Given the description of an element on the screen output the (x, y) to click on. 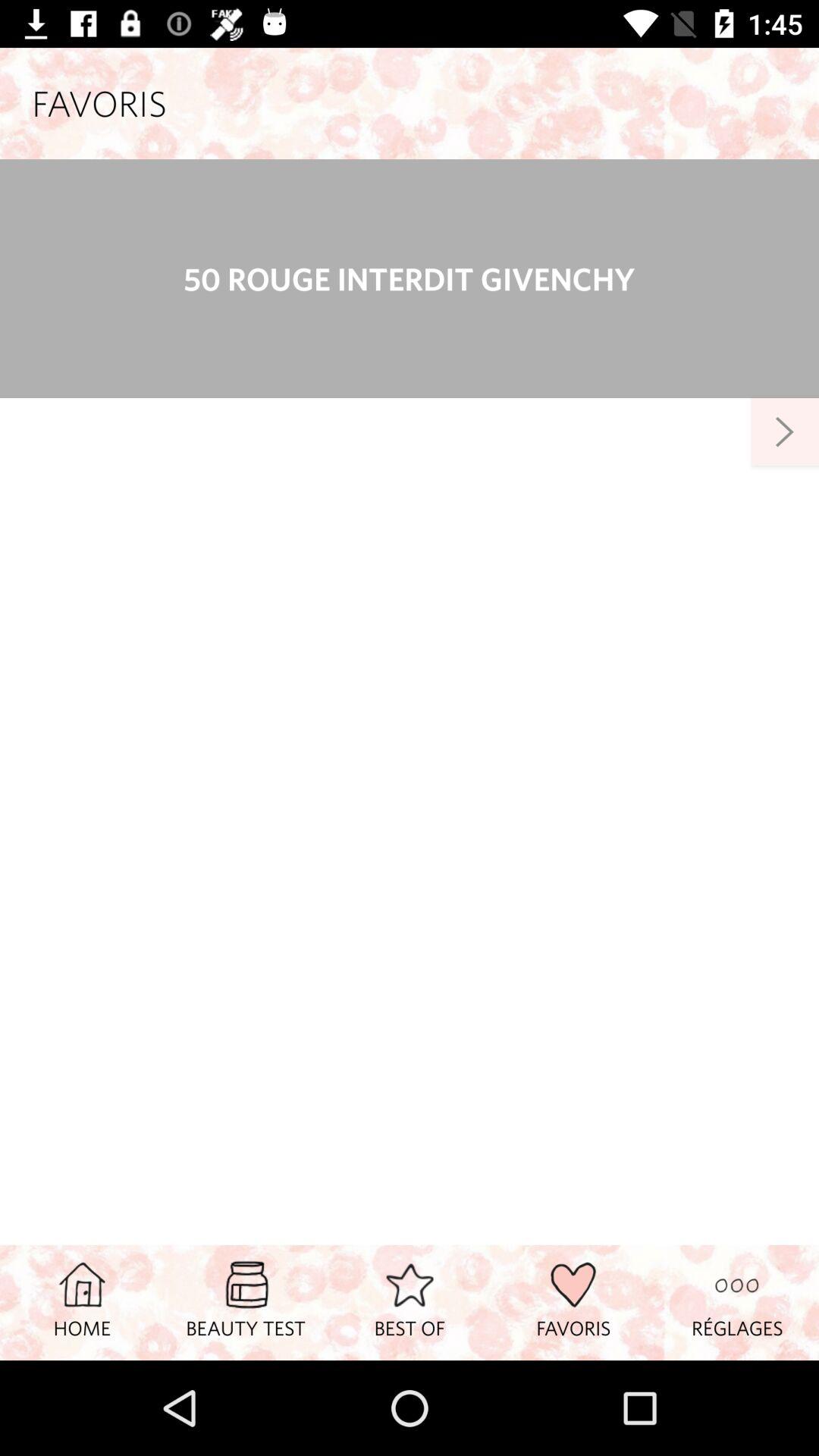
turn on the icon next to the favoris icon (737, 1302)
